Given the description of an element on the screen output the (x, y) to click on. 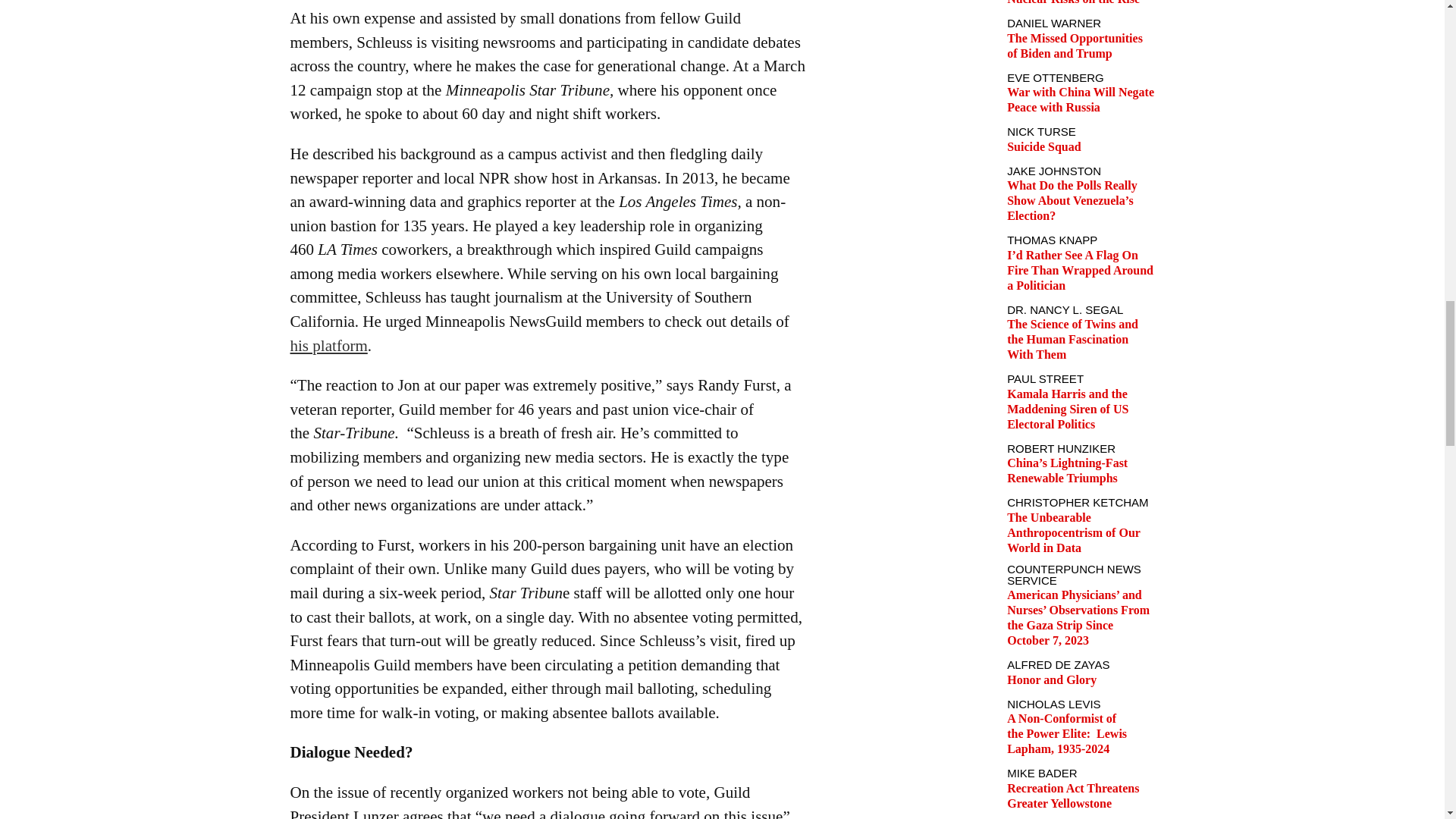
his platform (327, 345)
